Given the description of an element on the screen output the (x, y) to click on. 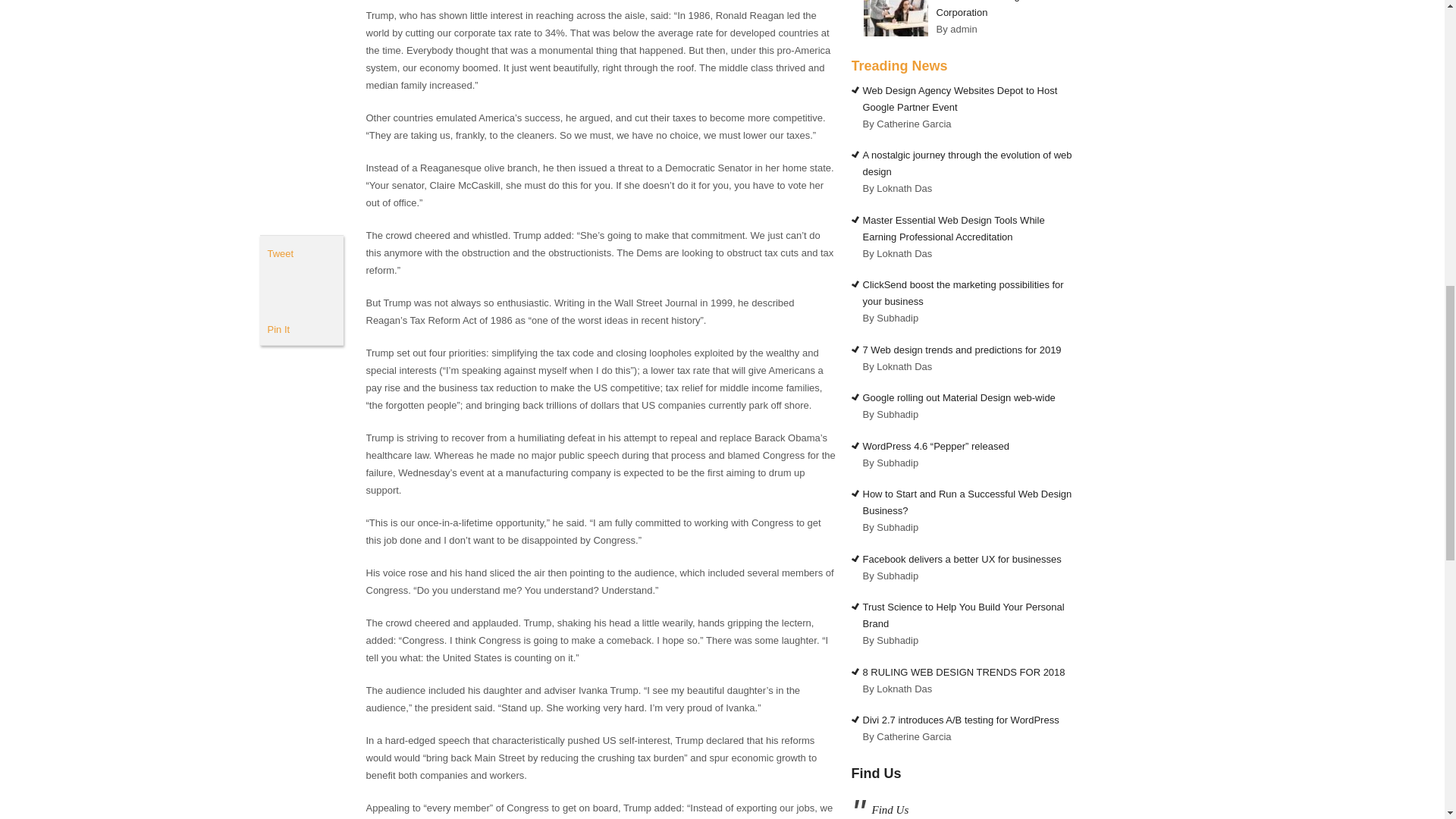
A Complete Guide To Hiring An MSP For Your Large Corporation (1003, 9)
7 Web design trends and predictions for 2019 (962, 349)
A nostalgic journey through the evolution of web design (967, 163)
